Given the description of an element on the screen output the (x, y) to click on. 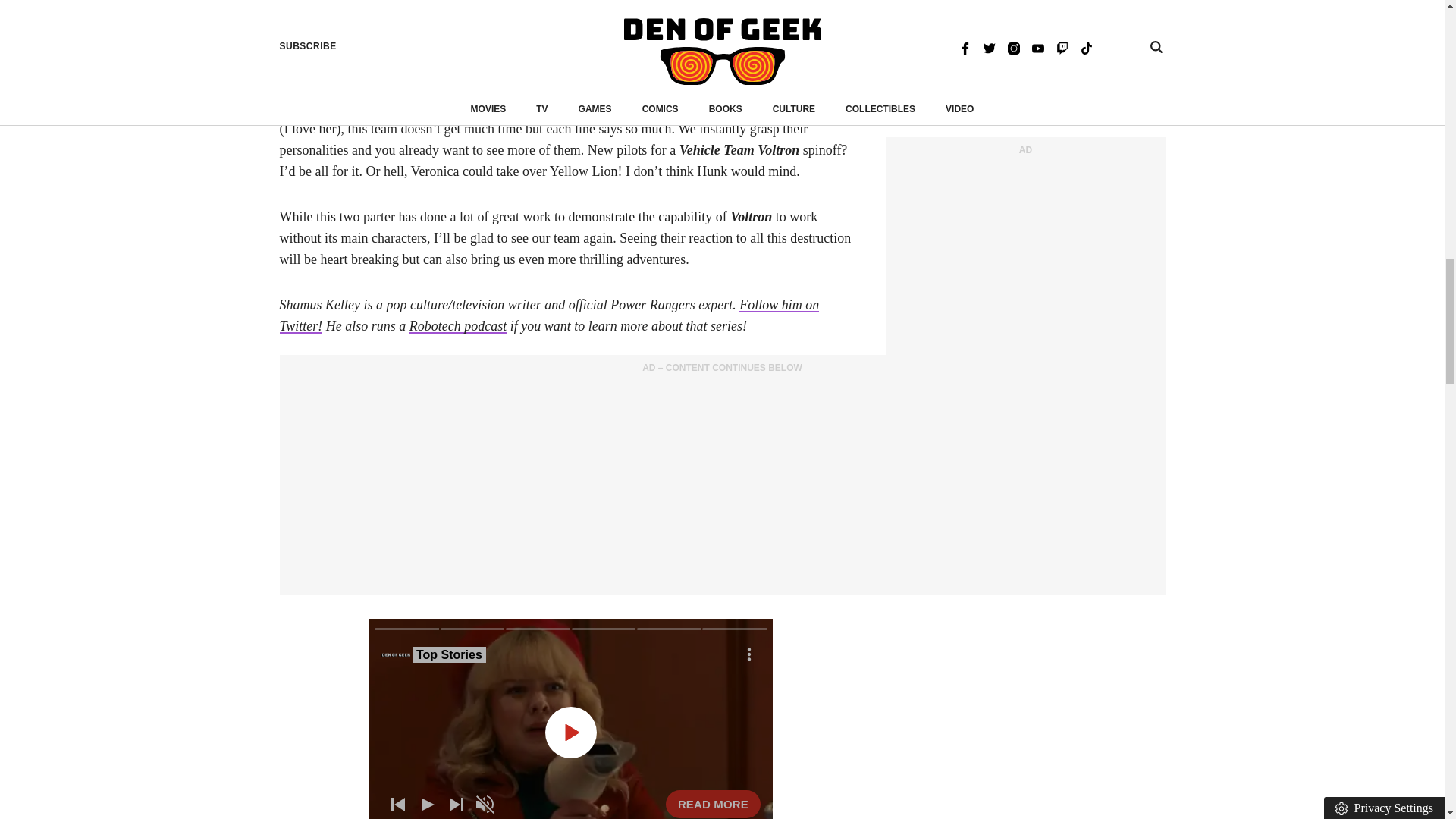
Robotech The Essential Episodes (542, 51)
Follow him on Twitter! (548, 315)
Robotech podcast (457, 325)
check out Robotech on Netflix (542, 51)
READ MORE (712, 804)
